Given the description of an element on the screen output the (x, y) to click on. 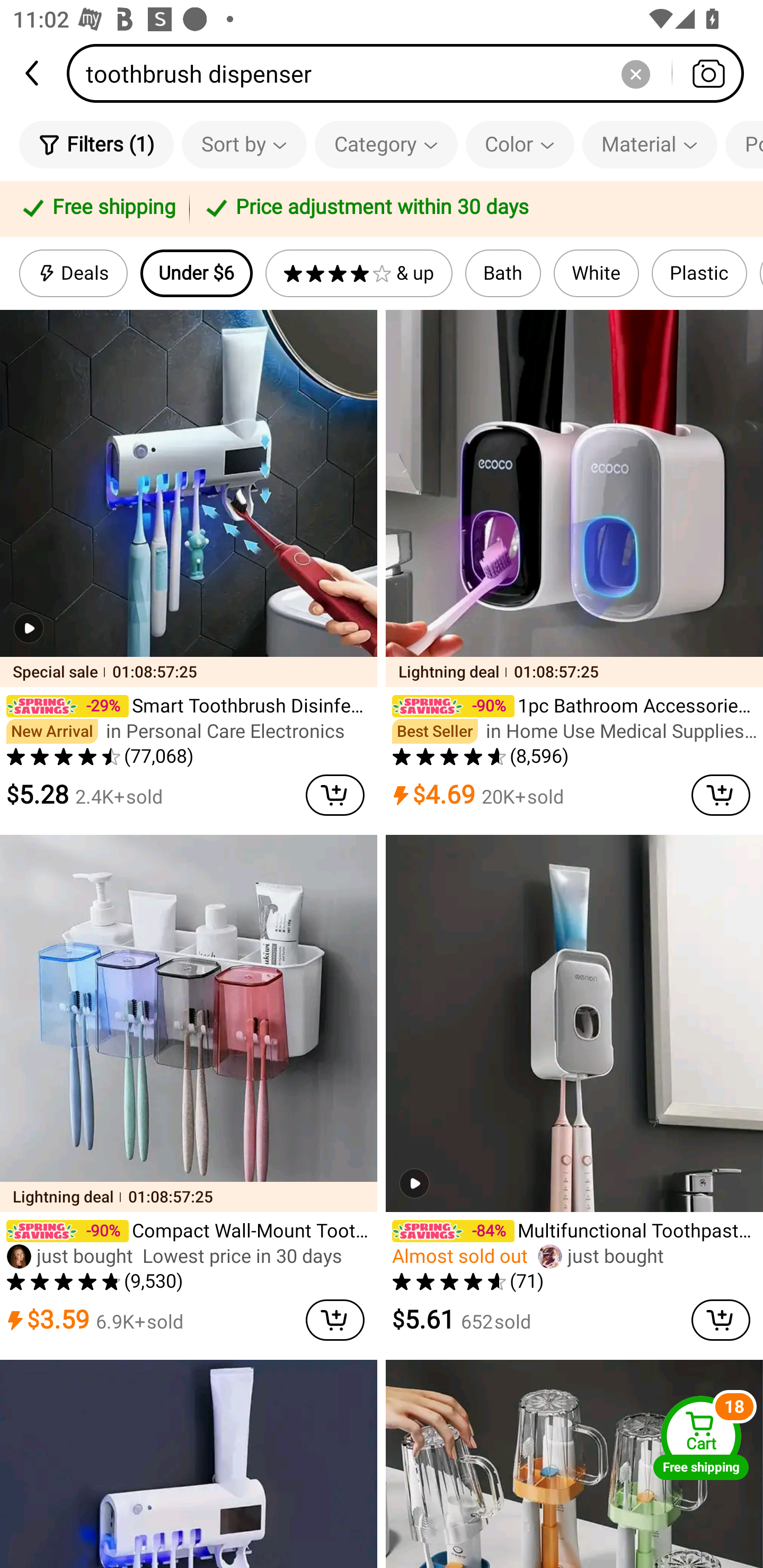
back (33, 72)
toothbrush dispenser (411, 73)
Delete search history (635, 73)
Search by photo (708, 73)
Filters (1) (96, 143)
Sort by (243, 143)
Category (385, 143)
Color (519, 143)
Material (649, 143)
Free shipping (97, 208)
Price adjustment within 30 days (472, 208)
Deals (73, 273)
Under $6 (196, 273)
& up (358, 273)
Bath (502, 273)
White (596, 273)
Plastic (698, 273)
cart delete (334, 794)
cart delete (720, 794)
cart delete (334, 1319)
cart delete (720, 1319)
Cart Free shipping Cart (701, 1437)
